Given the description of an element on the screen output the (x, y) to click on. 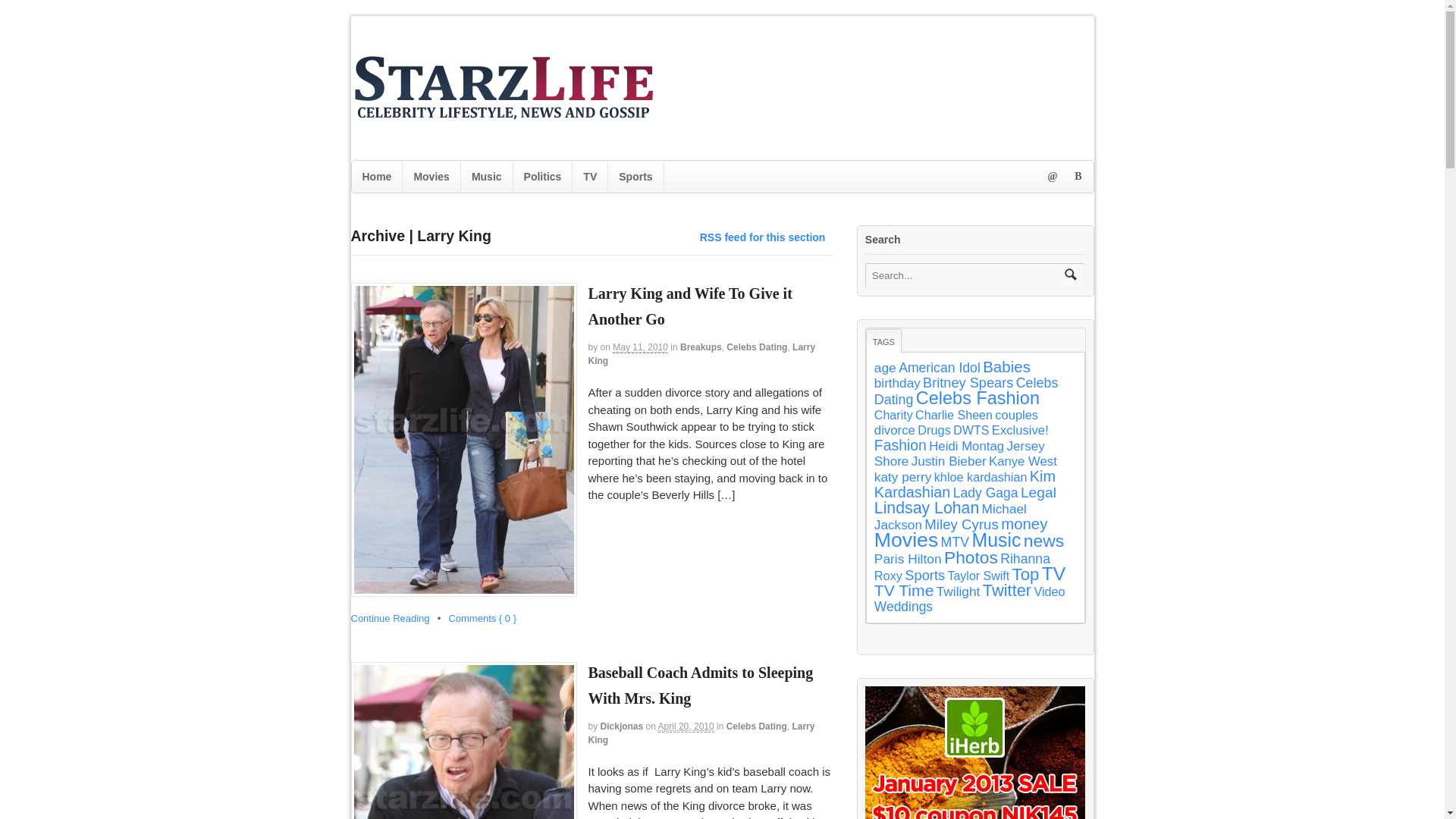
Search... (965, 275)
Larry King and Wife To Give it Another Go (690, 306)
RSS feed for this section (762, 237)
Posts by dickjonas (621, 726)
Celebs Dating (756, 726)
Larry King and Wife To Give it Another Go (690, 306)
Movies (431, 176)
Politics (542, 176)
Baseball Coach Admits to Sleeping With Mrs. King (700, 685)
